Given the description of an element on the screen output the (x, y) to click on. 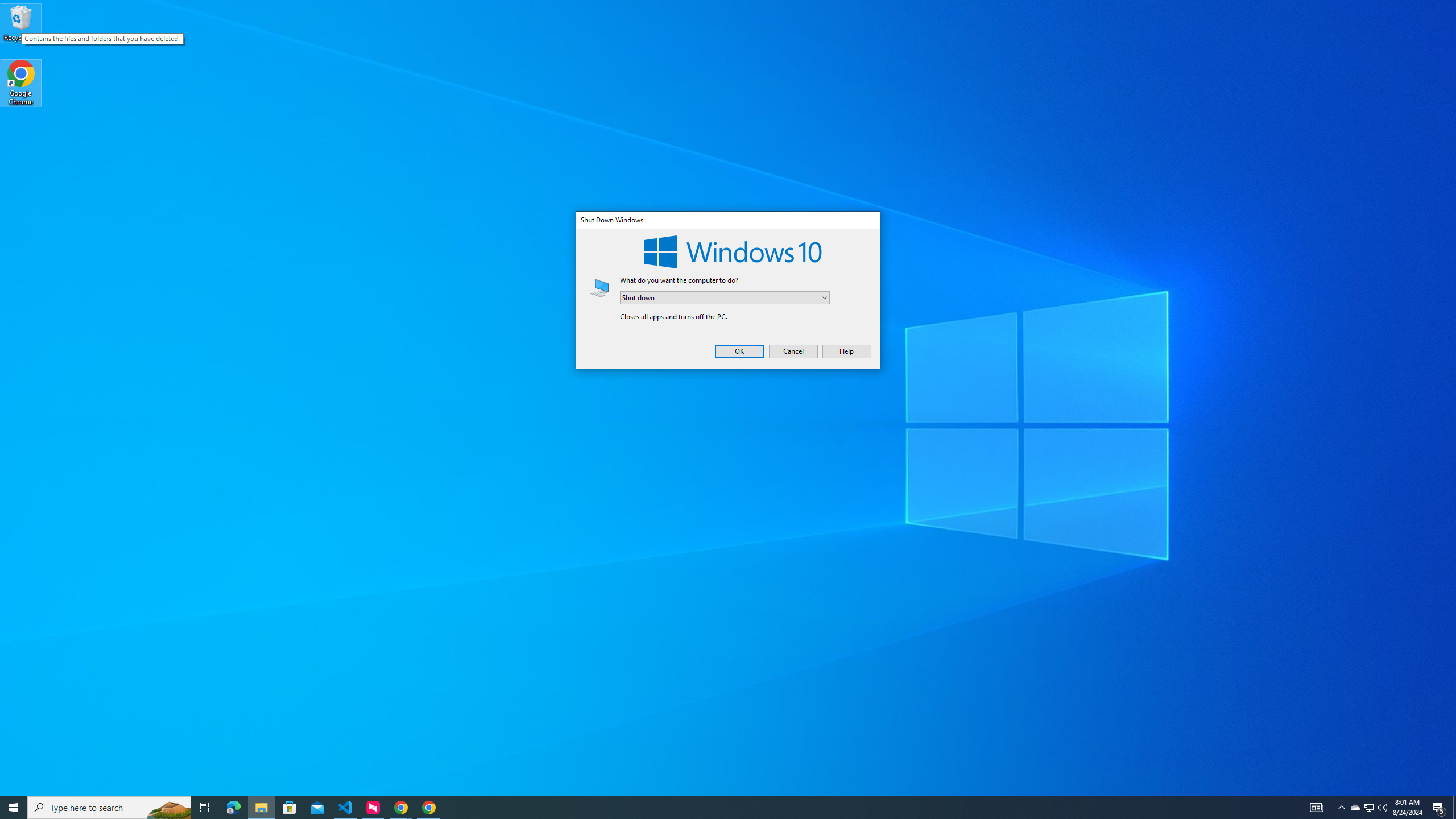
Cancel (1355, 807)
Type here to search (793, 350)
Microsoft Edge (108, 807)
Microsoft Store (233, 807)
Google Chrome - 1 running window (289, 807)
User Promoted Notification Area (428, 807)
Notification Chevron (1368, 807)
Start (1341, 807)
OK (13, 807)
Search highlights icon opens search home window (739, 350)
AutomationID: 2027 (167, 807)
